Given the description of an element on the screen output the (x, y) to click on. 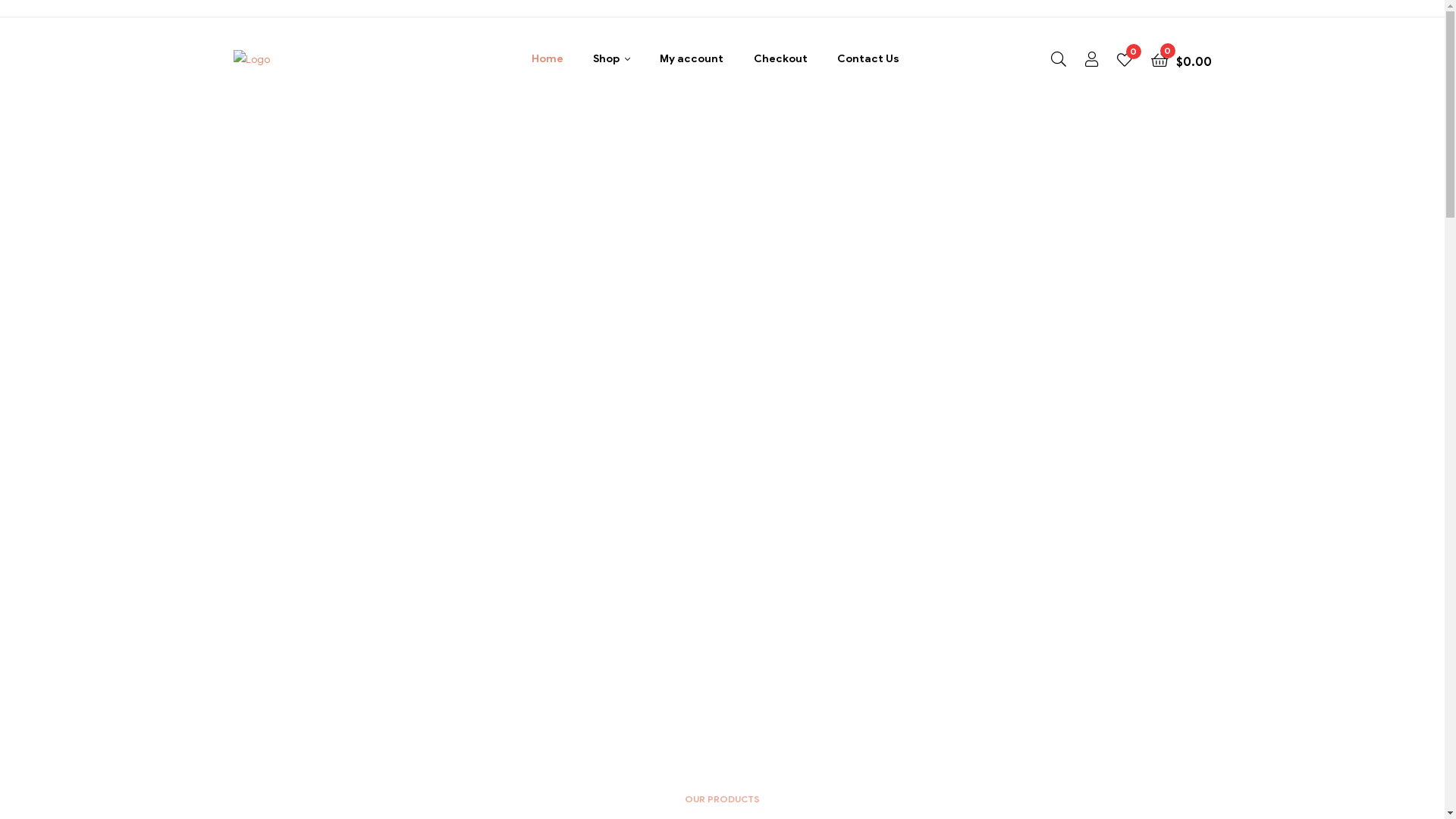
0
$0.00 Element type: text (1181, 58)
0 Element type: text (1123, 58)
Search Element type: text (859, 253)
My account Element type: text (691, 58)
Home Element type: text (546, 58)
Checkout Element type: text (780, 58)
Shop Element type: text (611, 58)
Contact Us Element type: text (868, 58)
